Given the description of an element on the screen output the (x, y) to click on. 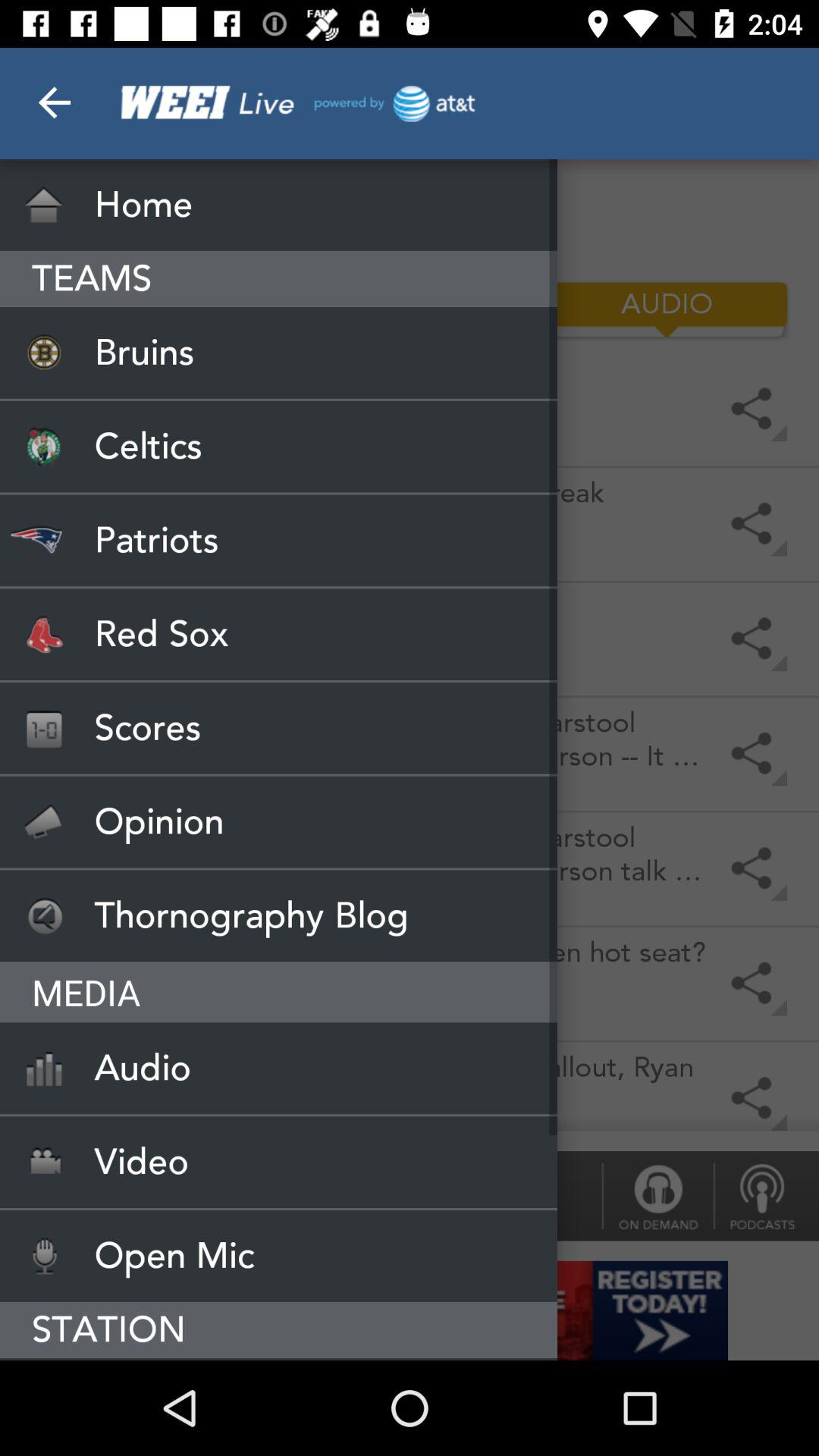
turn on item below home item (409, 309)
